Given the description of an element on the screen output the (x, y) to click on. 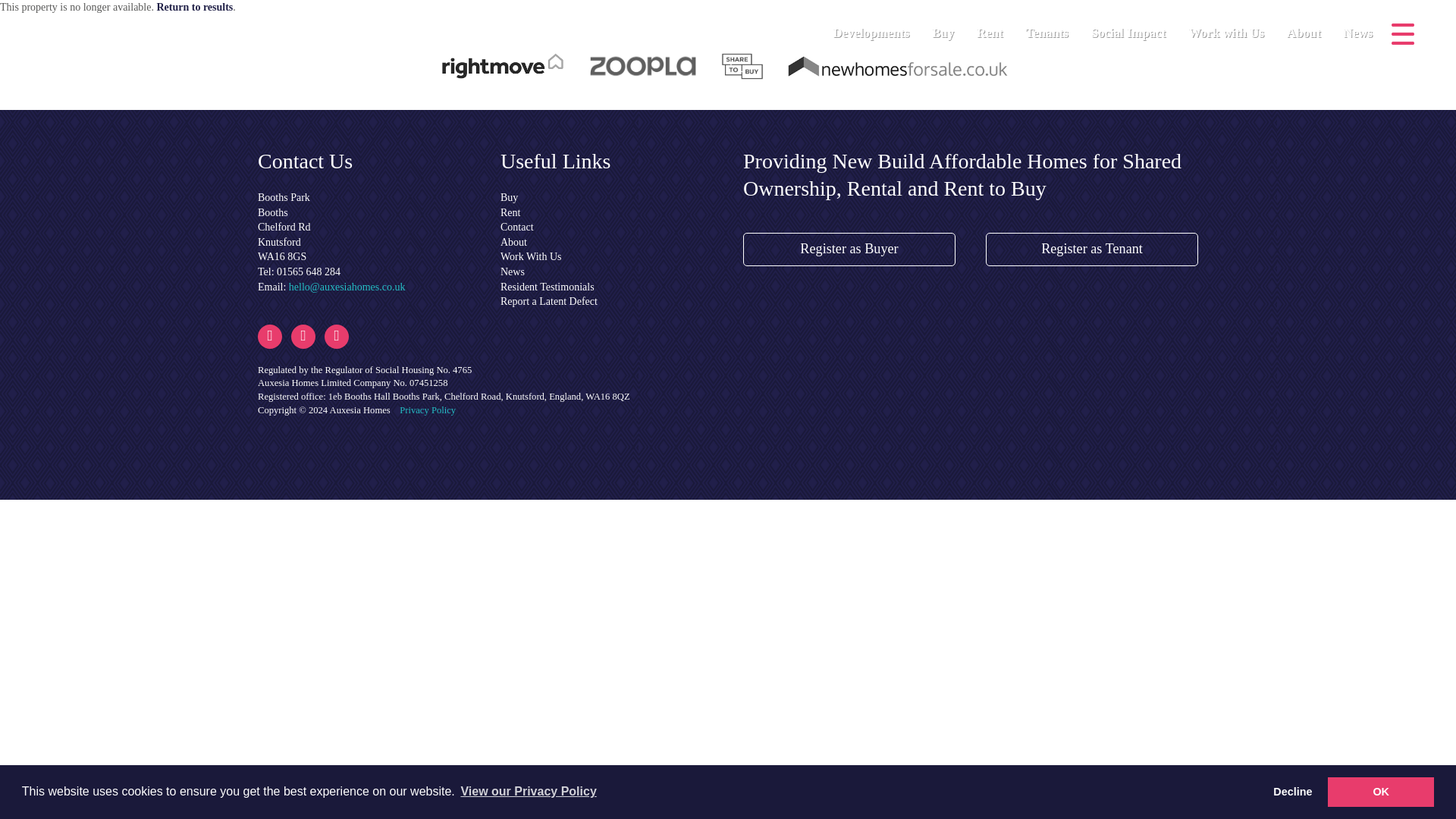
Developments (874, 24)
News (1358, 24)
Work with Us (1229, 24)
About (1307, 24)
Rent (993, 24)
Tenants (1050, 24)
Social Impact (1131, 24)
Buy (945, 24)
Developments (874, 24)
